Given the description of an element on the screen output the (x, y) to click on. 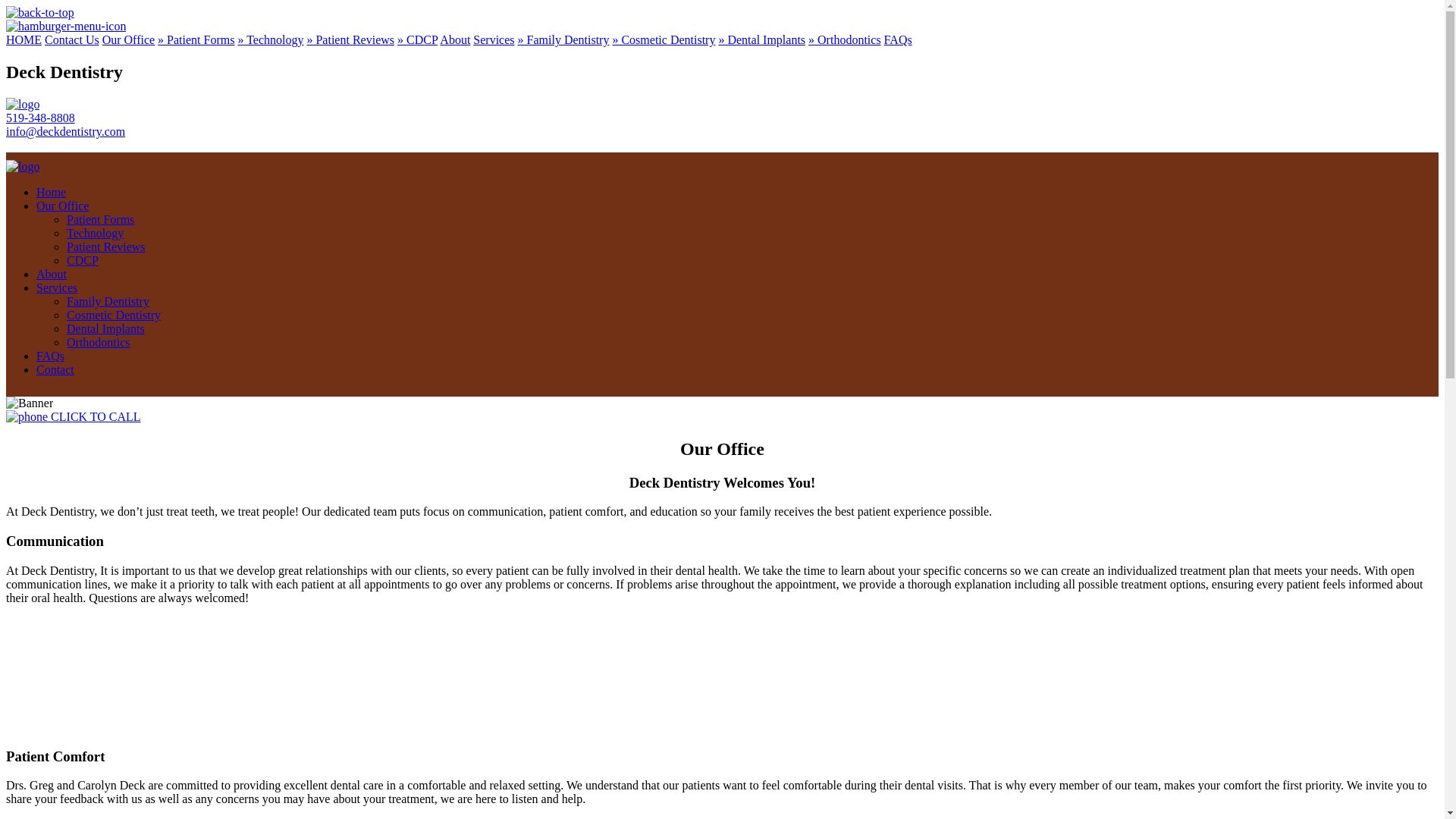
Home (50, 192)
About (454, 39)
HOME (23, 39)
Contact Us (72, 39)
FAQs (897, 39)
FAQs (50, 355)
About (51, 273)
Our Office (62, 205)
Orthodontics (98, 341)
Services (56, 287)
